Given the description of an element on the screen output the (x, y) to click on. 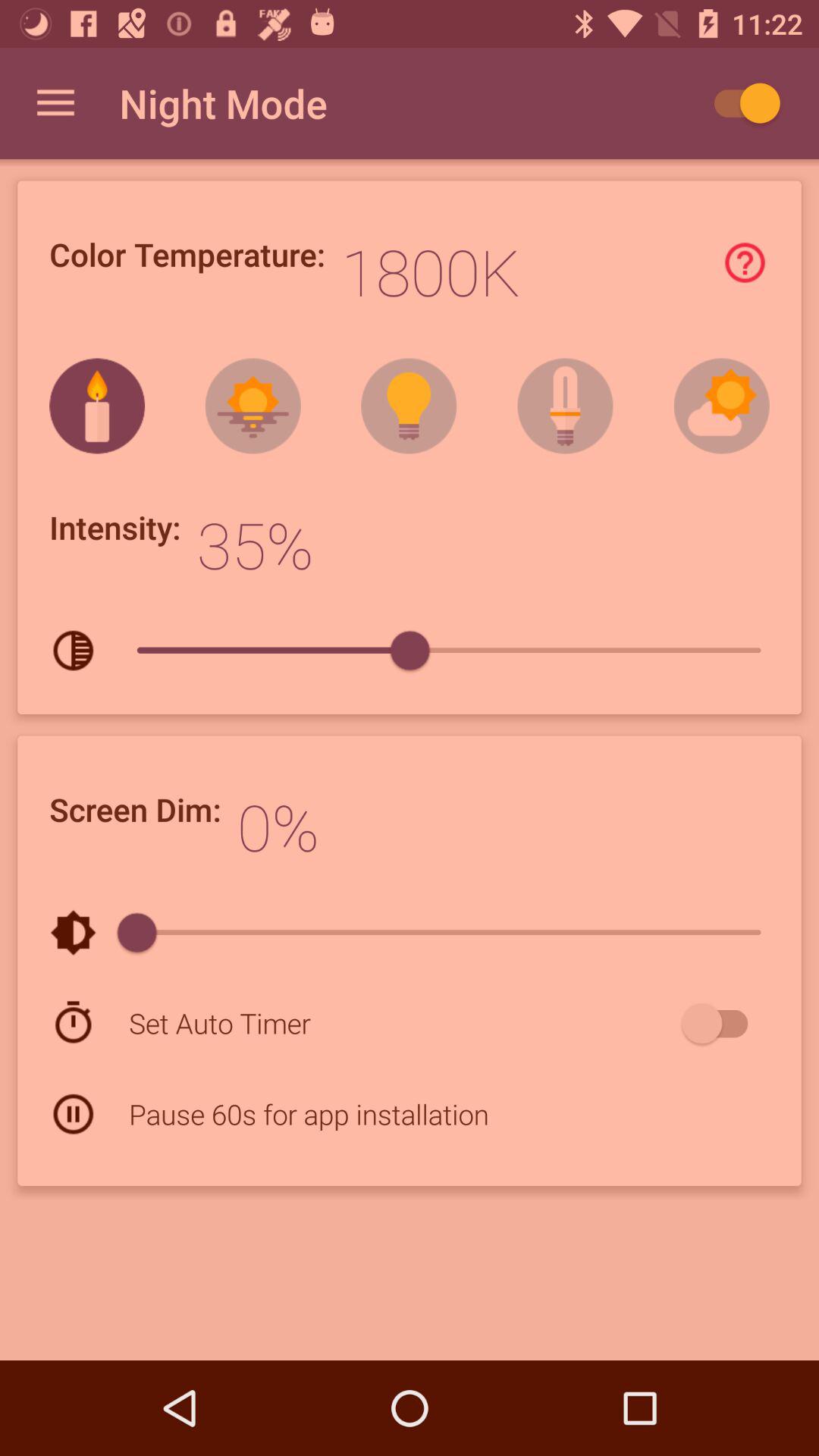
question button (744, 262)
